Given the description of an element on the screen output the (x, y) to click on. 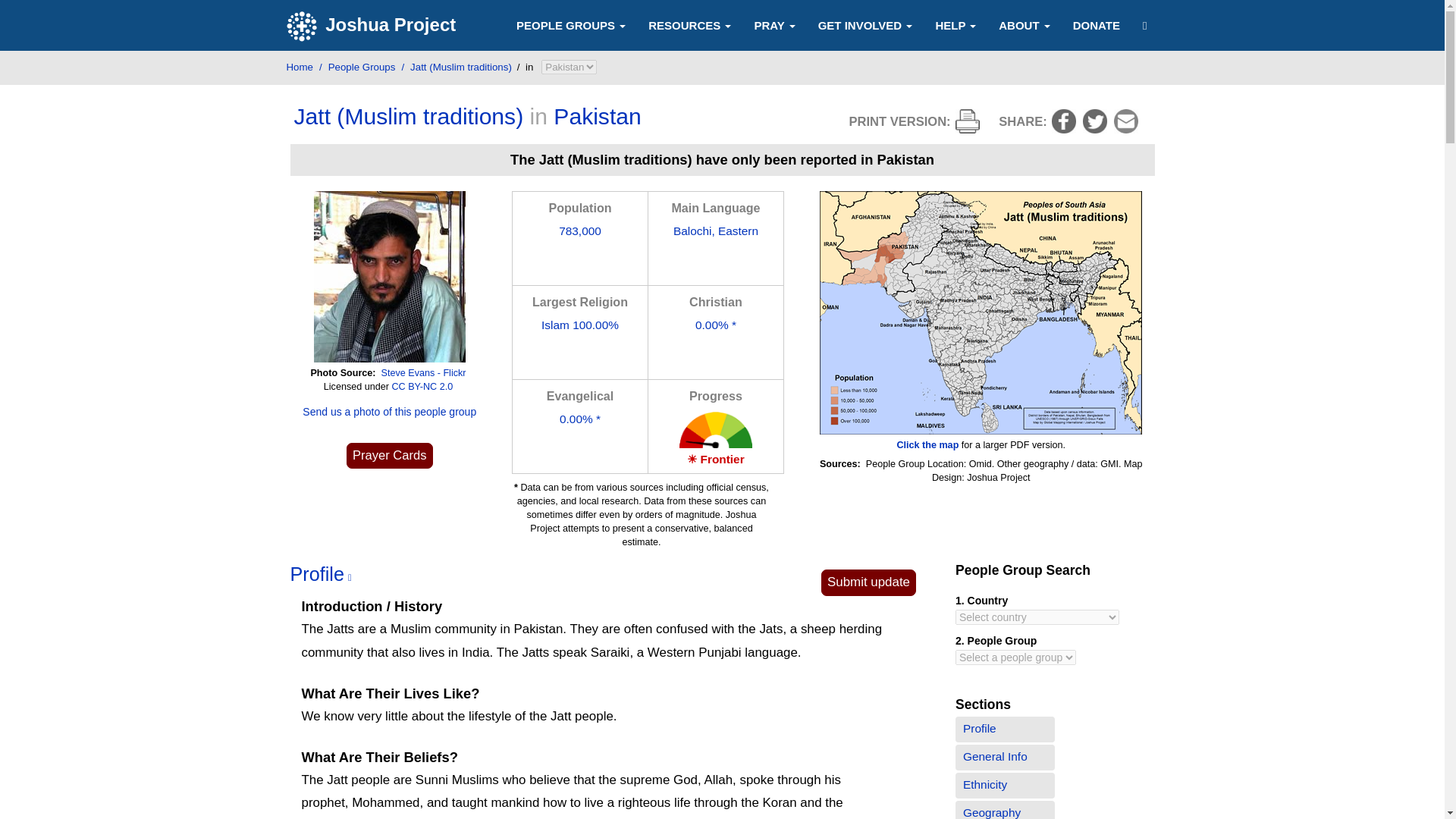
Joshua Project (373, 25)
RESOURCES (689, 24)
PEOPLE GROUPS (571, 24)
